Given the description of an element on the screen output the (x, y) to click on. 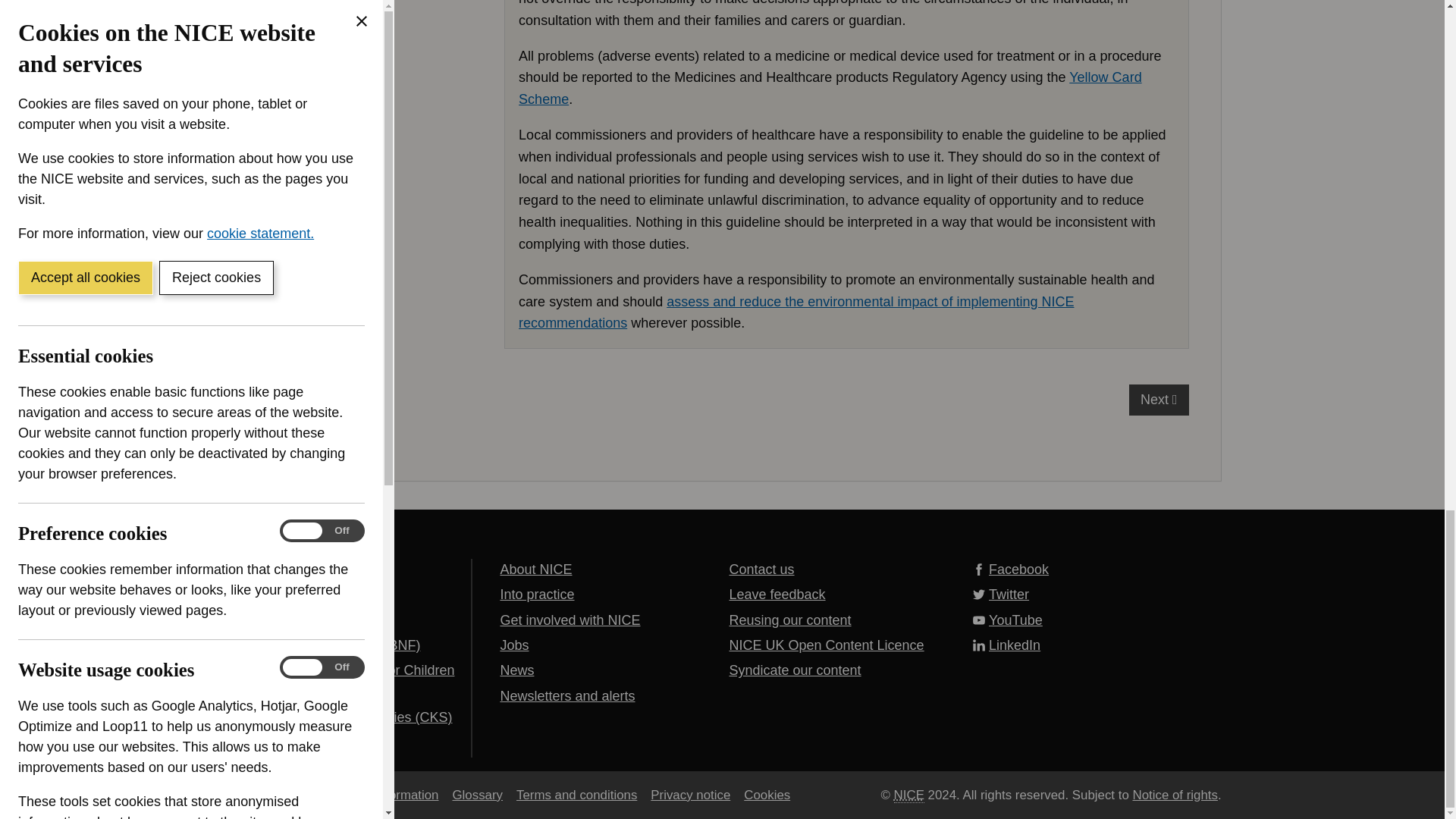
National Institute for Health and Care Excellence (908, 795)
